Given the description of an element on the screen output the (x, y) to click on. 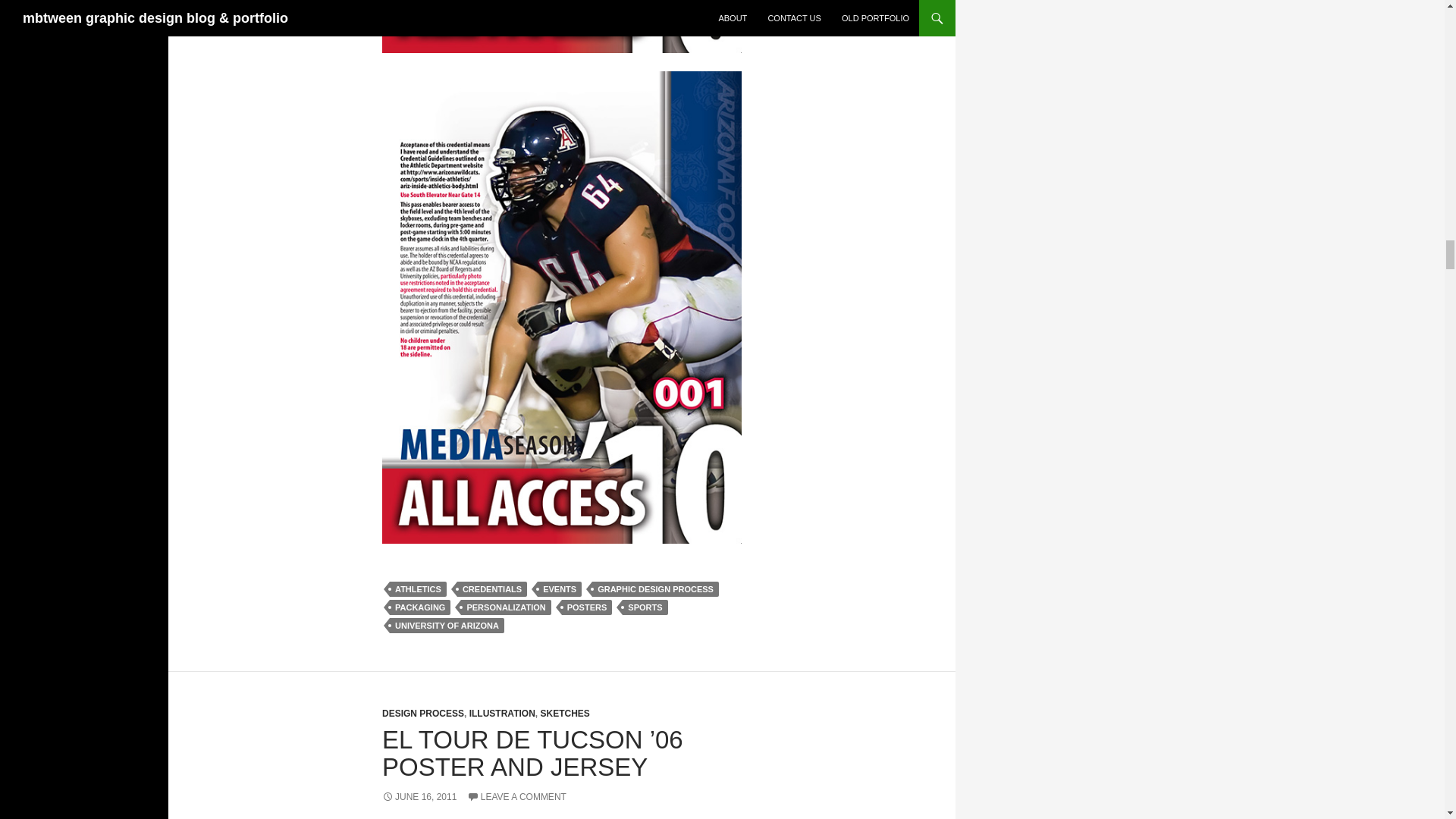
GRAPHIC DESIGN PROCESS (655, 589)
ILLUSTRATION (501, 713)
DESIGN PROCESS (422, 713)
PACKAGING (419, 607)
POSTERS (587, 607)
SPORTS (644, 607)
JUNE 16, 2011 (419, 796)
CREDENTIALS (492, 589)
LEAVE A COMMENT (516, 796)
UNIVERSITY OF ARIZONA (446, 625)
